Given the description of an element on the screen output the (x, y) to click on. 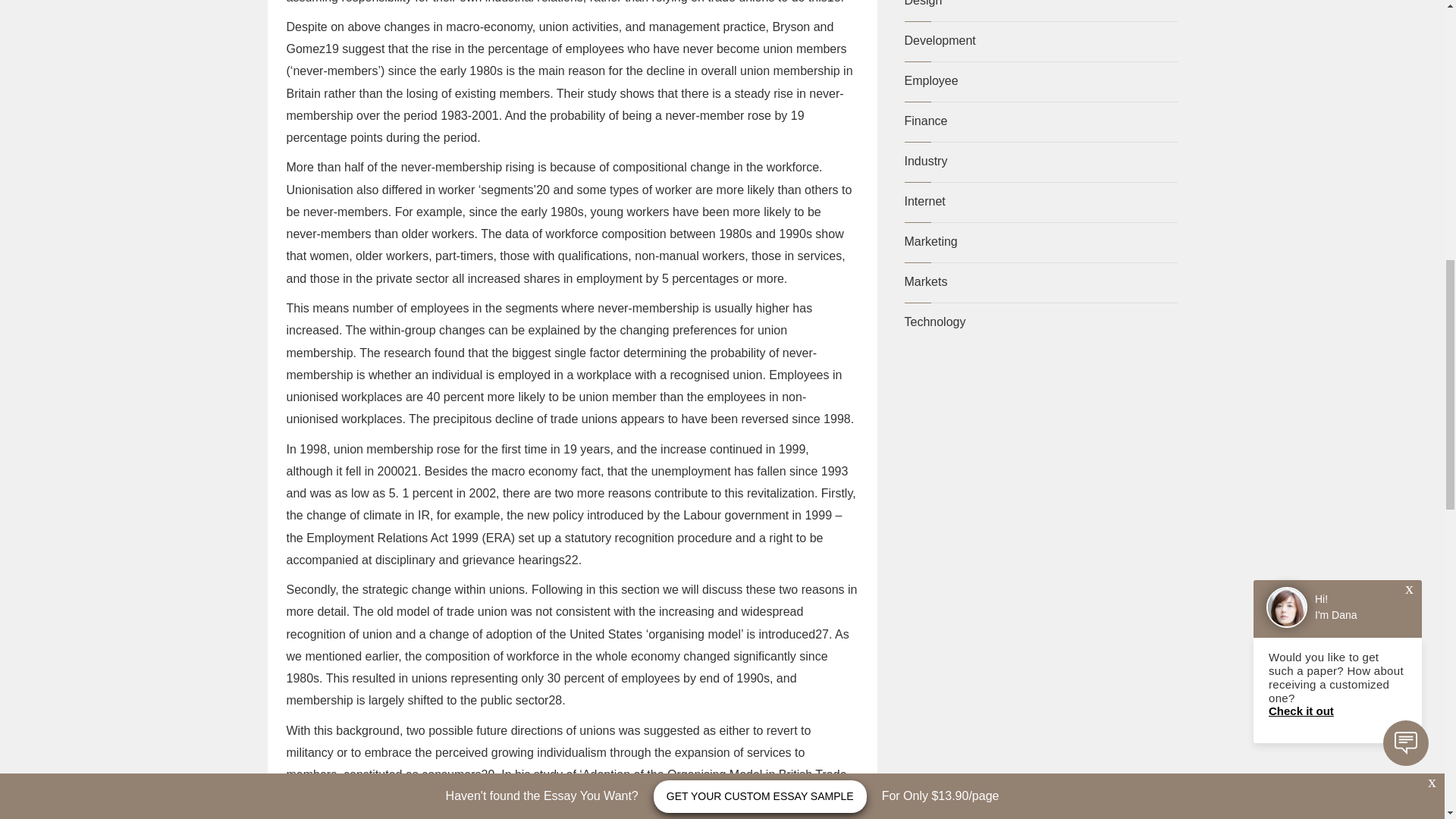
Internet (924, 201)
Finance (925, 120)
Industry (925, 160)
Marketing (930, 241)
Employee (931, 80)
Design (923, 3)
Markets (925, 281)
Development (939, 40)
